Given the description of an element on the screen output the (x, y) to click on. 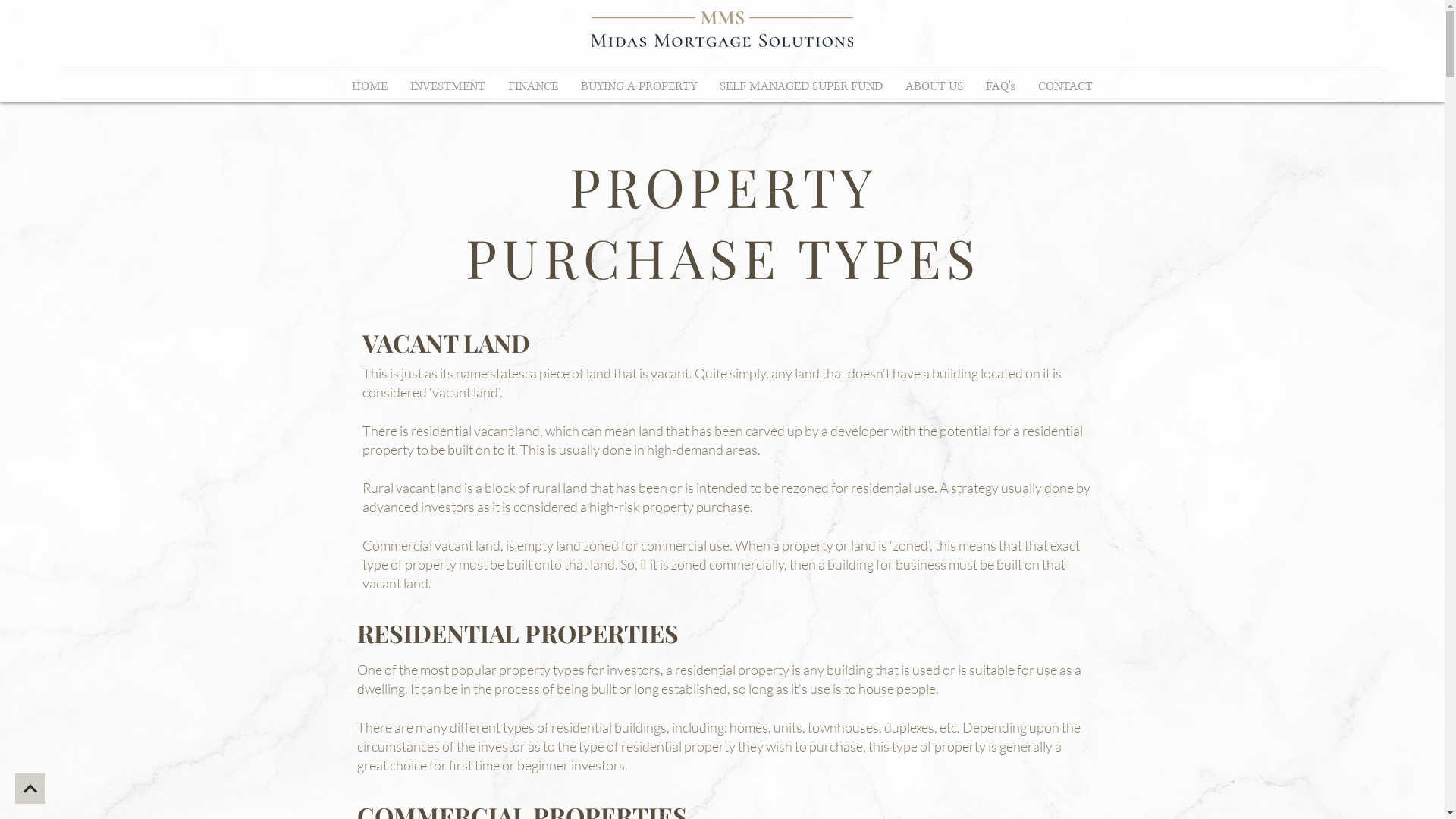
FINANCE Element type: text (532, 86)
ABOUT US Element type: text (934, 86)
FAQ's Element type: text (1000, 86)
SELF MANAGED SUPER FUND Element type: text (801, 86)
HOME Element type: text (369, 86)
CONTACT Element type: text (1065, 86)
INVESTMENT Element type: text (447, 86)
